Given the description of an element on the screen output the (x, y) to click on. 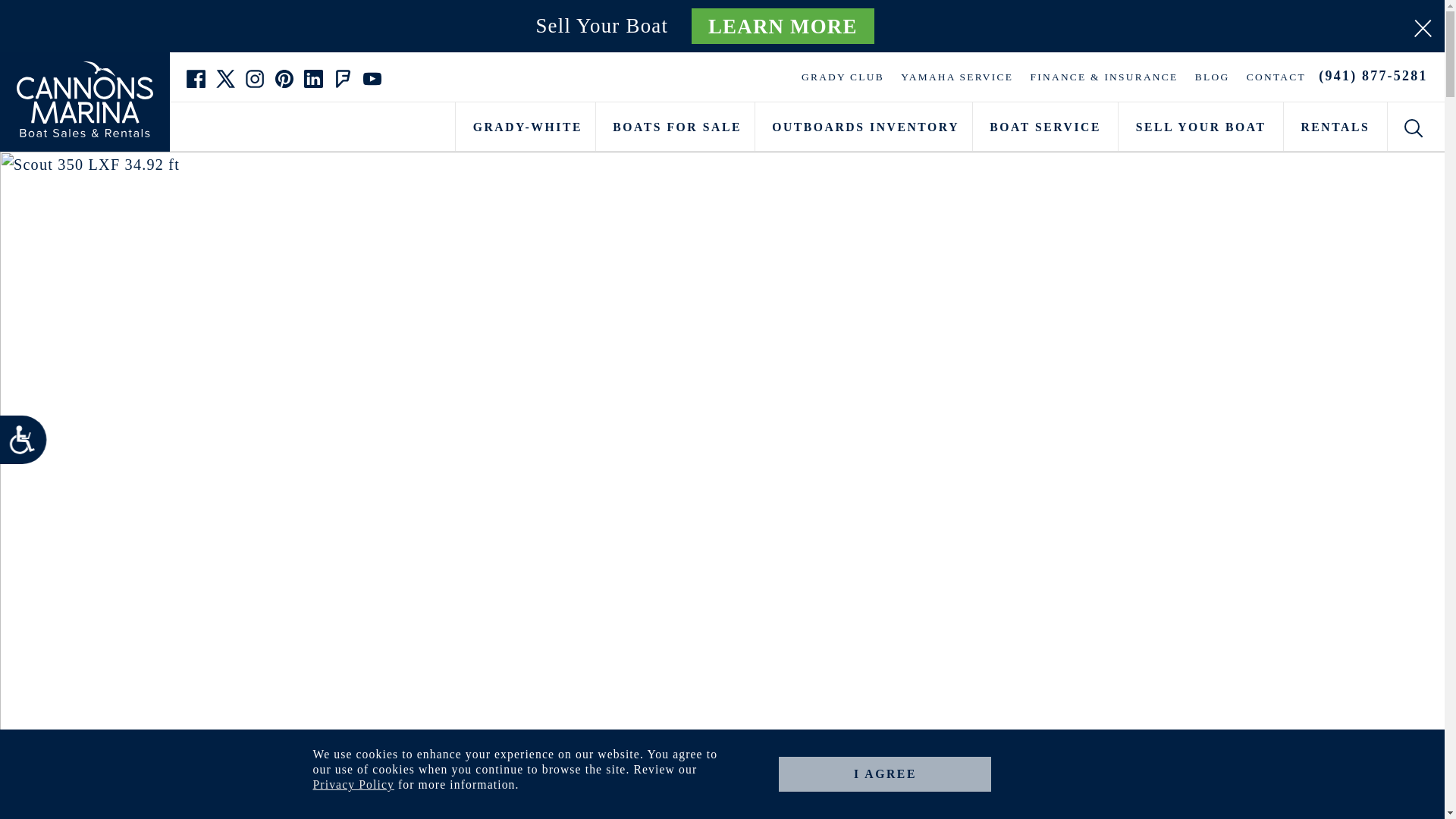
SELL YOUR BOAT (1200, 126)
Boat Rentals (1335, 126)
Grady White Boats (525, 126)
RENTALS (1335, 126)
BOAT SERVICE (1045, 126)
CONTACT (1276, 76)
YAMAHA SERVICE (957, 76)
GRADY CLUB (842, 76)
BOATS FOR SALE (674, 126)
LEARN MORE (783, 26)
GRADY-WHITE (525, 126)
OUTBOARDS INVENTORY (863, 126)
BLOG (1212, 76)
Accessibility (29, 445)
